Given the description of an element on the screen output the (x, y) to click on. 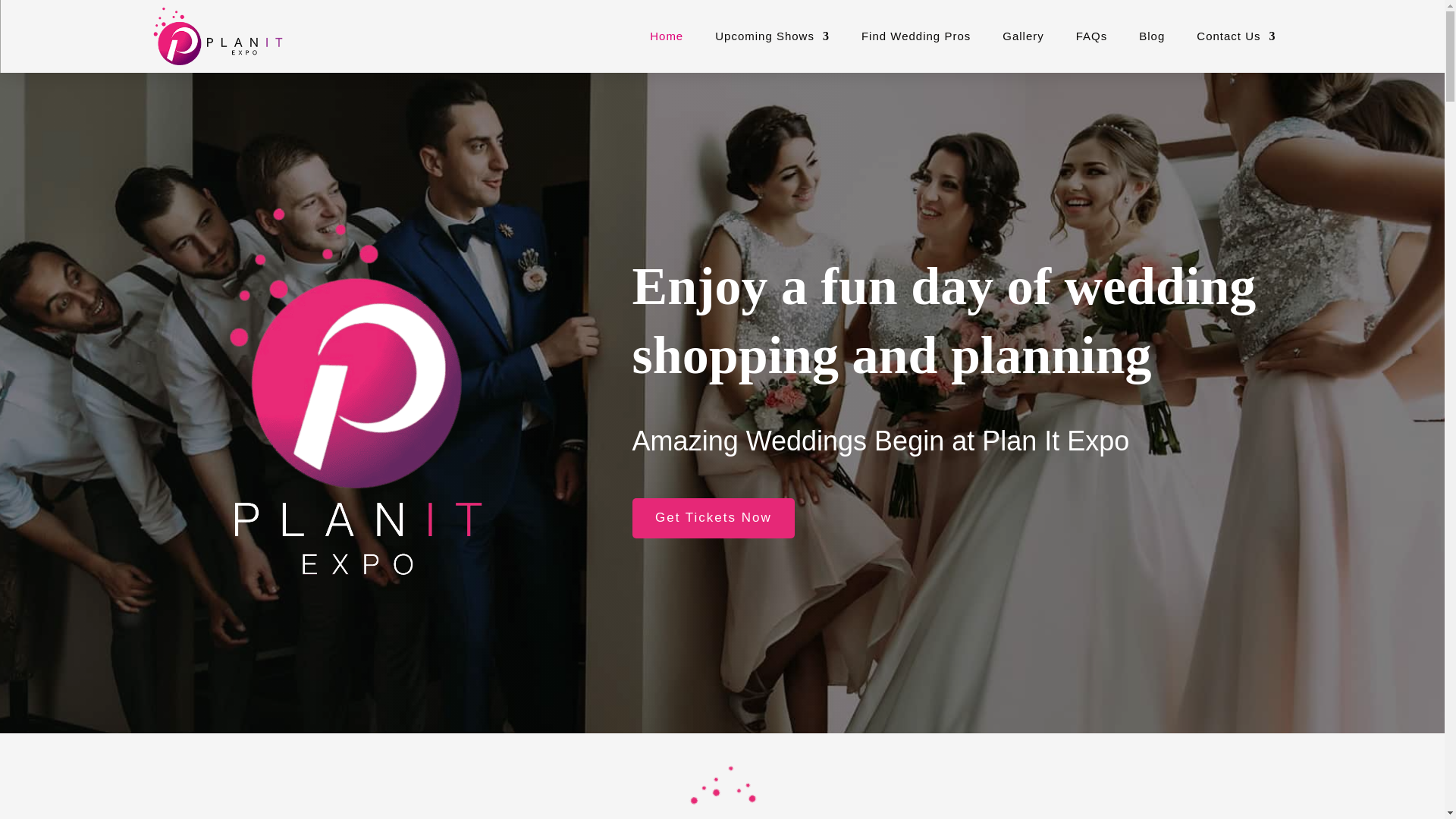
Home (665, 36)
Upcoming Shows (771, 36)
Contact Us (1235, 36)
Find Wedding Pros (916, 36)
Gallery (1023, 36)
FAQs (1091, 36)
PIE-Dots-2 (722, 784)
Get Tickets Now (712, 517)
Blog (1151, 36)
PlanIt-Expo-Logo-2 (356, 394)
